Given the description of an element on the screen output the (x, y) to click on. 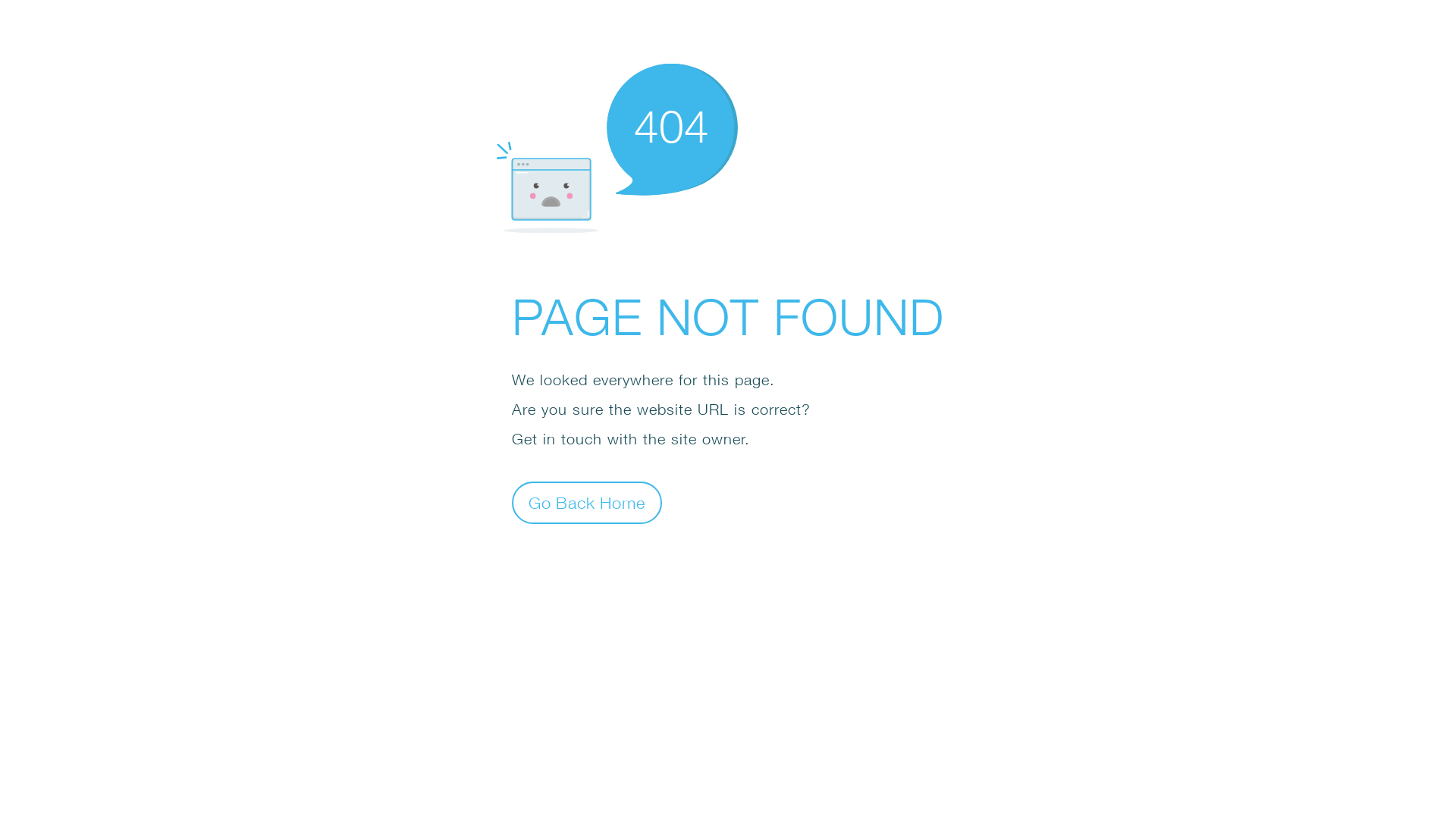
Go Back Home Element type: text (586, 502)
